Given the description of an element on the screen output the (x, y) to click on. 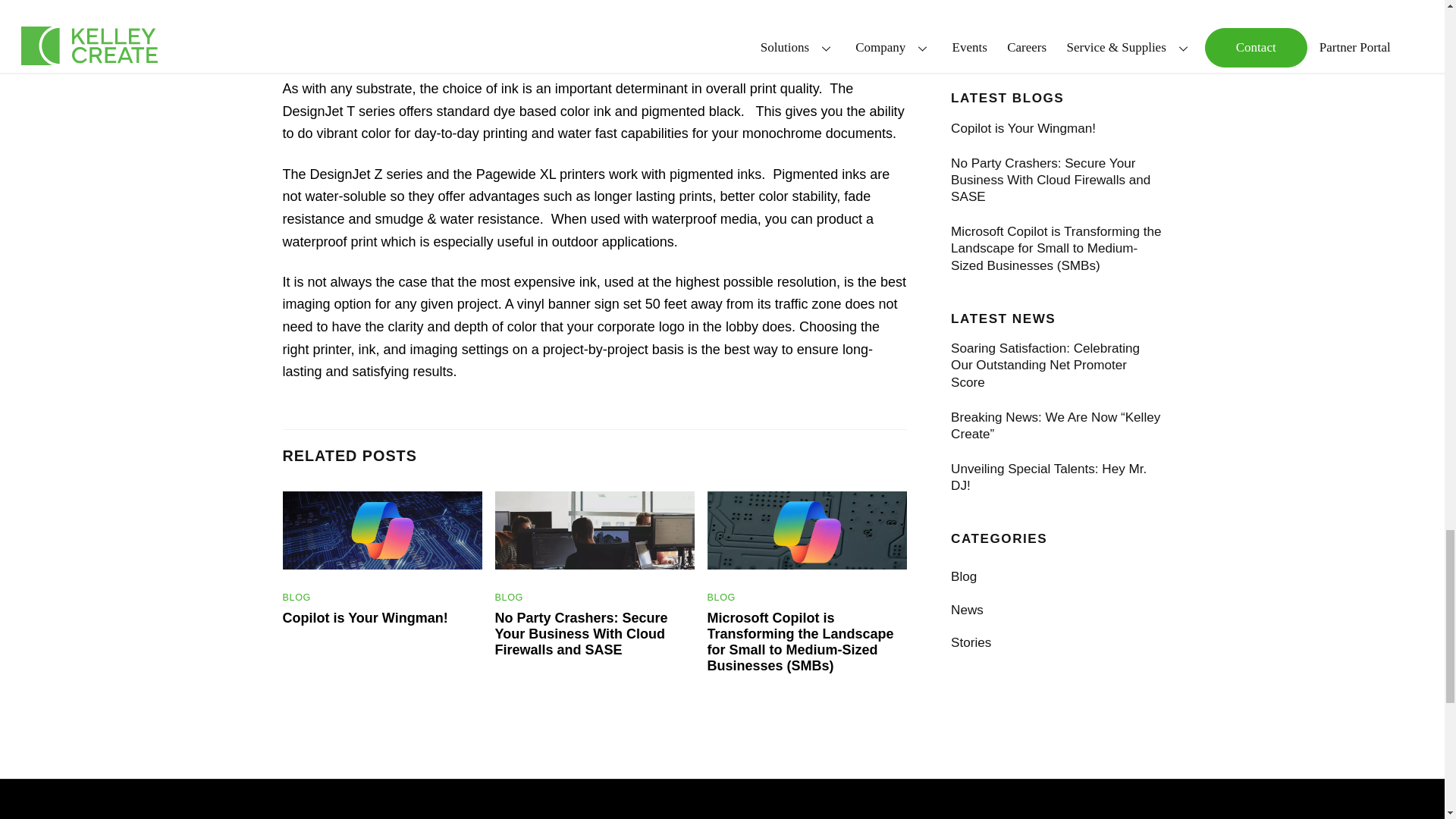
Secure Your Business Cloud Firewalls (595, 530)
Microsoft Copilot Features for SMBs (807, 530)
Copilot is Your Wingman (381, 530)
